Given the description of an element on the screen output the (x, y) to click on. 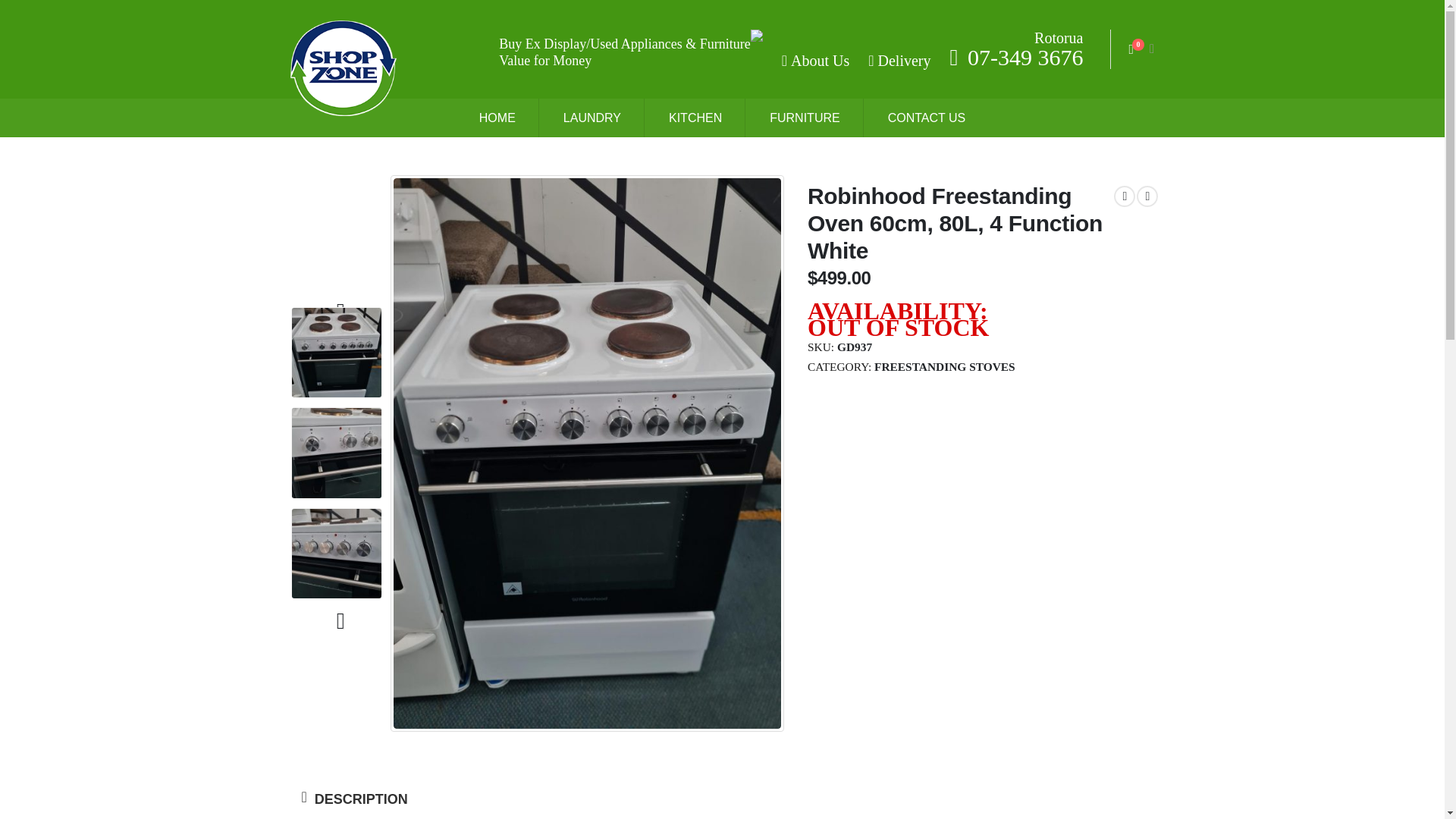
KITCHEN (695, 117)
LAUNDRY (592, 117)
CONTACT US (926, 117)
07-349 3676 (1014, 57)
Rotorua (1058, 37)
FREESTANDING STOVES (944, 366)
About Us (813, 56)
Delivery (897, 56)
FURNITURE (804, 117)
HOME (497, 117)
